Given the description of an element on the screen output the (x, y) to click on. 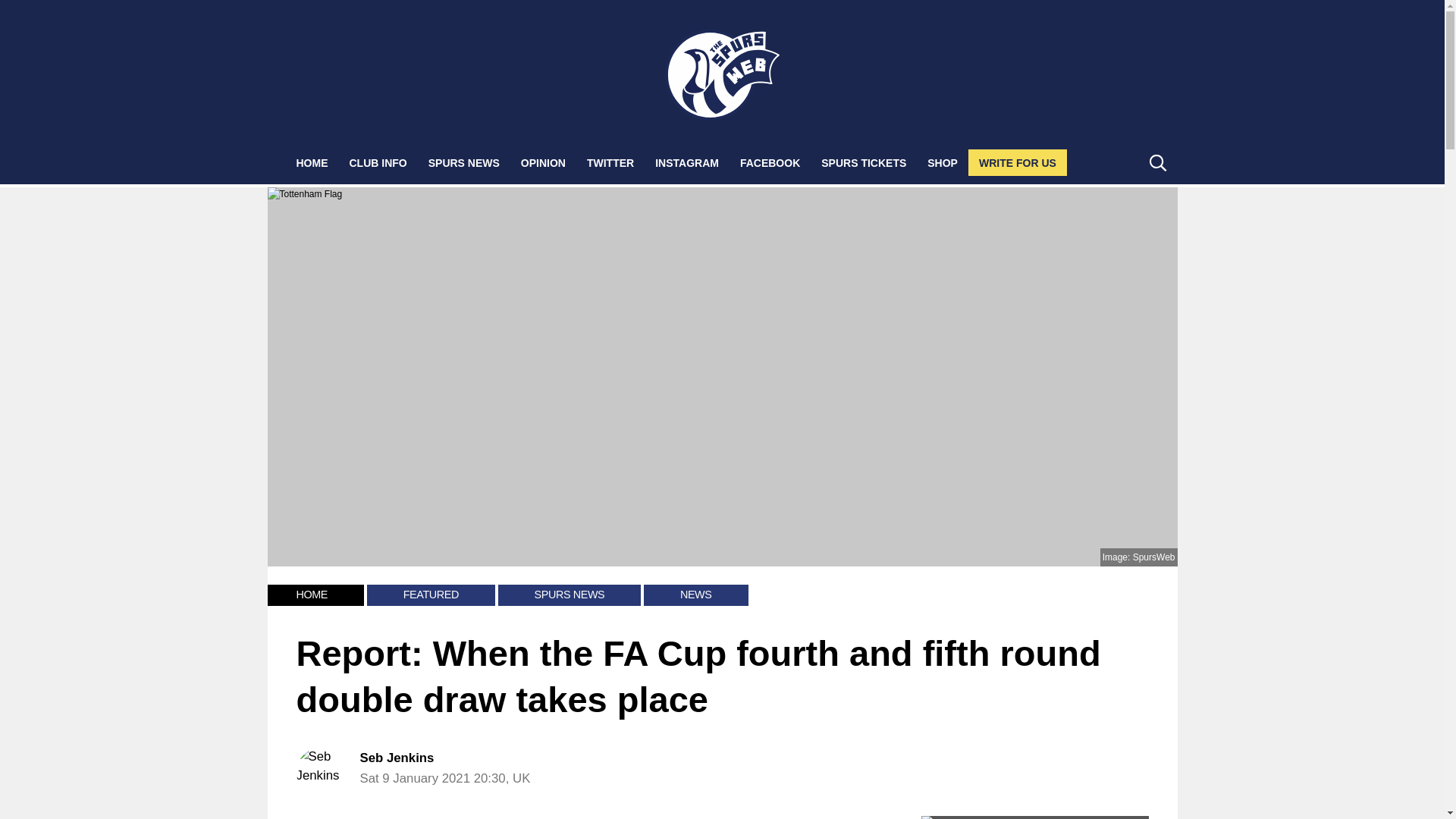
INSTAGRAM (687, 162)
CLUB INFO (376, 162)
SHOP (942, 162)
WRITE FOR US (1017, 162)
The Spurs Web - Tottenham Hotspur Football News (722, 73)
HOME (311, 594)
HOME (311, 162)
SPURS TICKETS (863, 162)
FACEBOOK (769, 162)
Click here for more Spurs news from NewsNow (1034, 817)
Seb Jenkins (396, 758)
FEATURED (430, 594)
SPURS NEWS (569, 594)
NEWS (695, 594)
SPURS NEWS (464, 162)
